Given the description of an element on the screen output the (x, y) to click on. 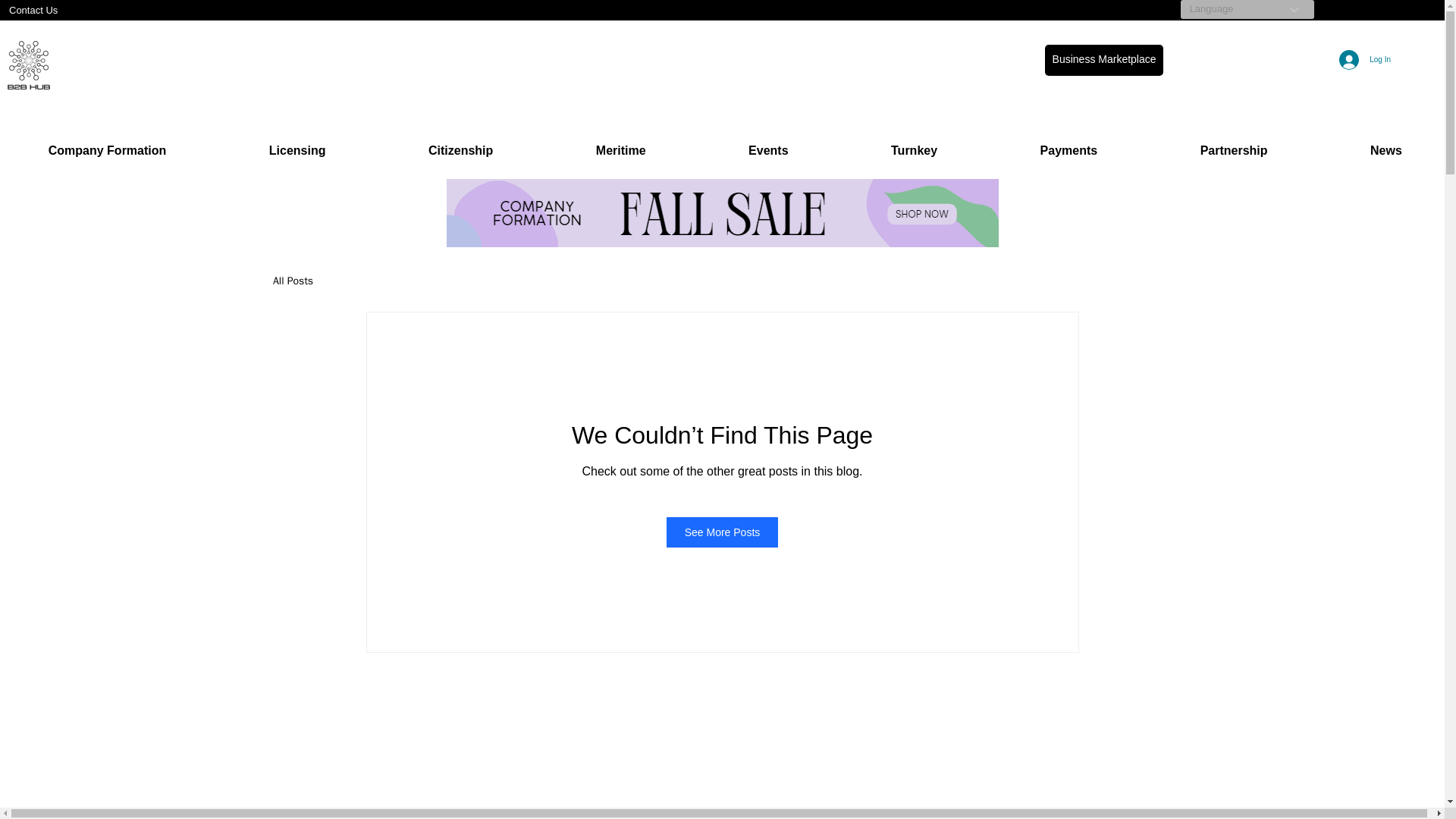
Payments (1068, 150)
Partnership (1233, 150)
Turnkey (914, 150)
Contact Us (116, 10)
News (1386, 150)
Business Marketplace (1104, 60)
Events (767, 150)
All Posts (293, 281)
Log In (1363, 59)
Contact Us (116, 10)
